Given the description of an element on the screen output the (x, y) to click on. 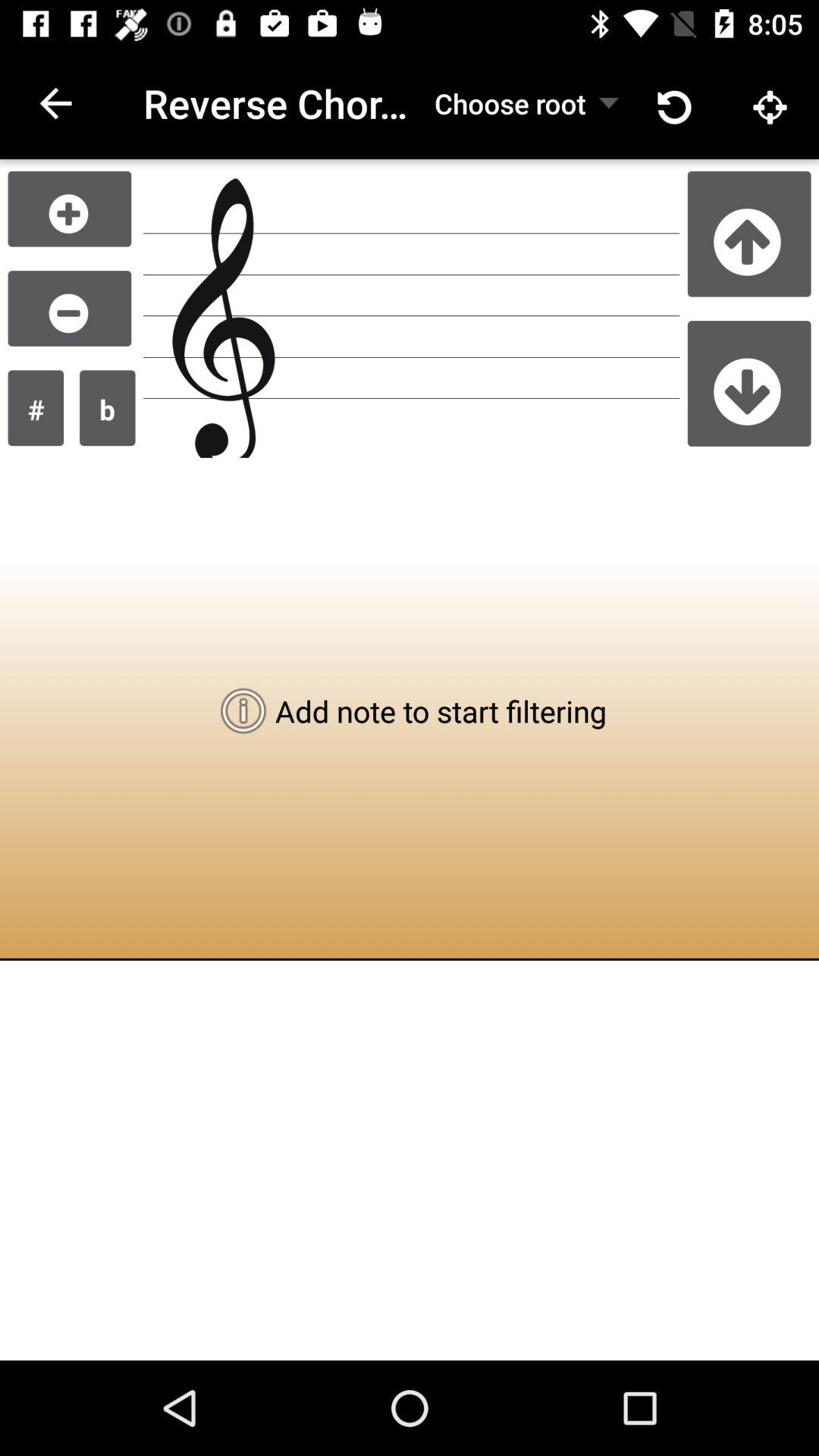
more options (69, 208)
